Given the description of an element on the screen output the (x, y) to click on. 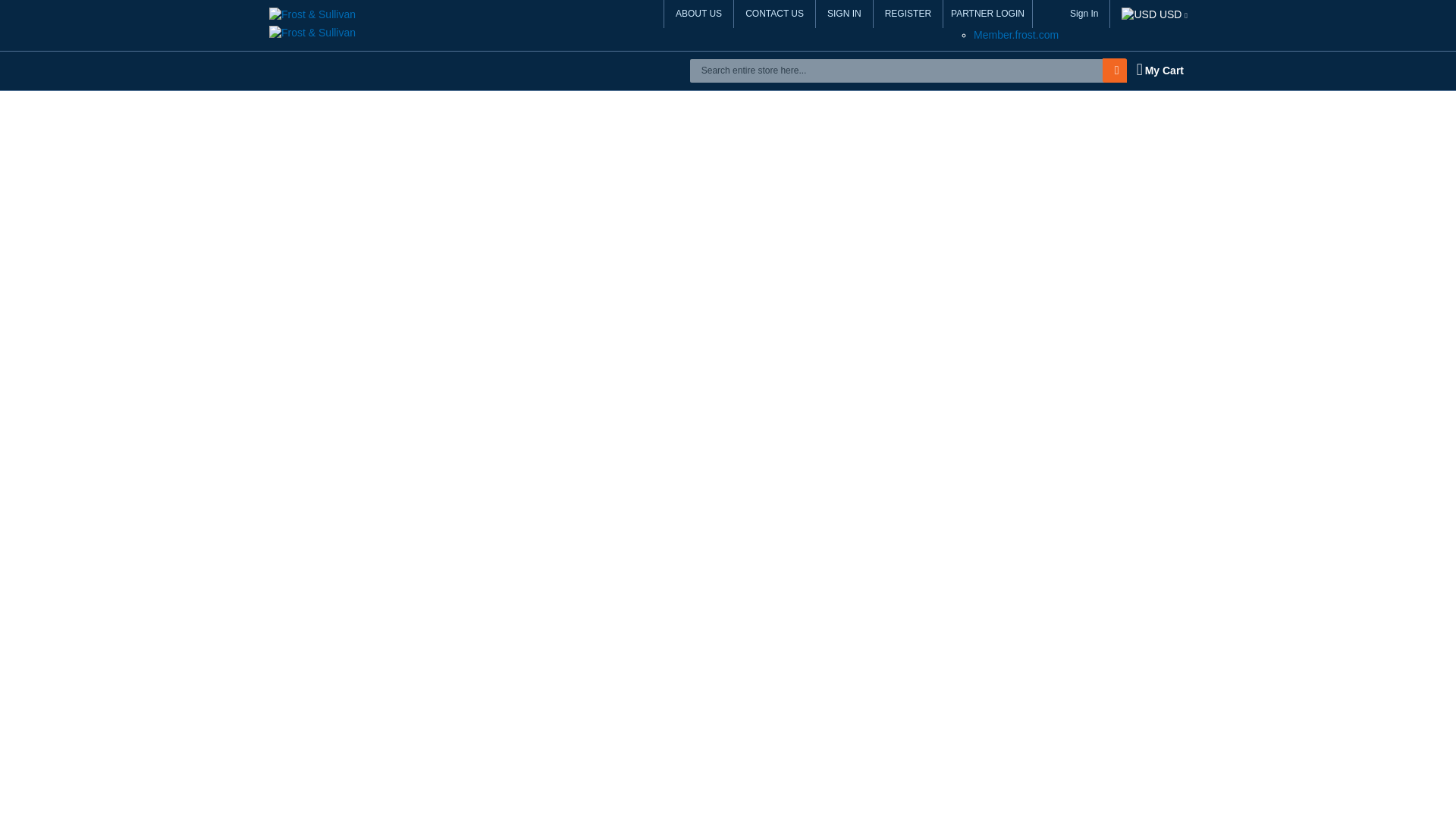
Sign In (1083, 13)
REGISTER (908, 13)
CONTACT US (774, 13)
ABOUT US (698, 13)
SIGN IN (844, 13)
Member.frost.com (1016, 34)
My Cart (1159, 69)
PARTNER LOGIN (987, 13)
